Given the description of an element on the screen output the (x, y) to click on. 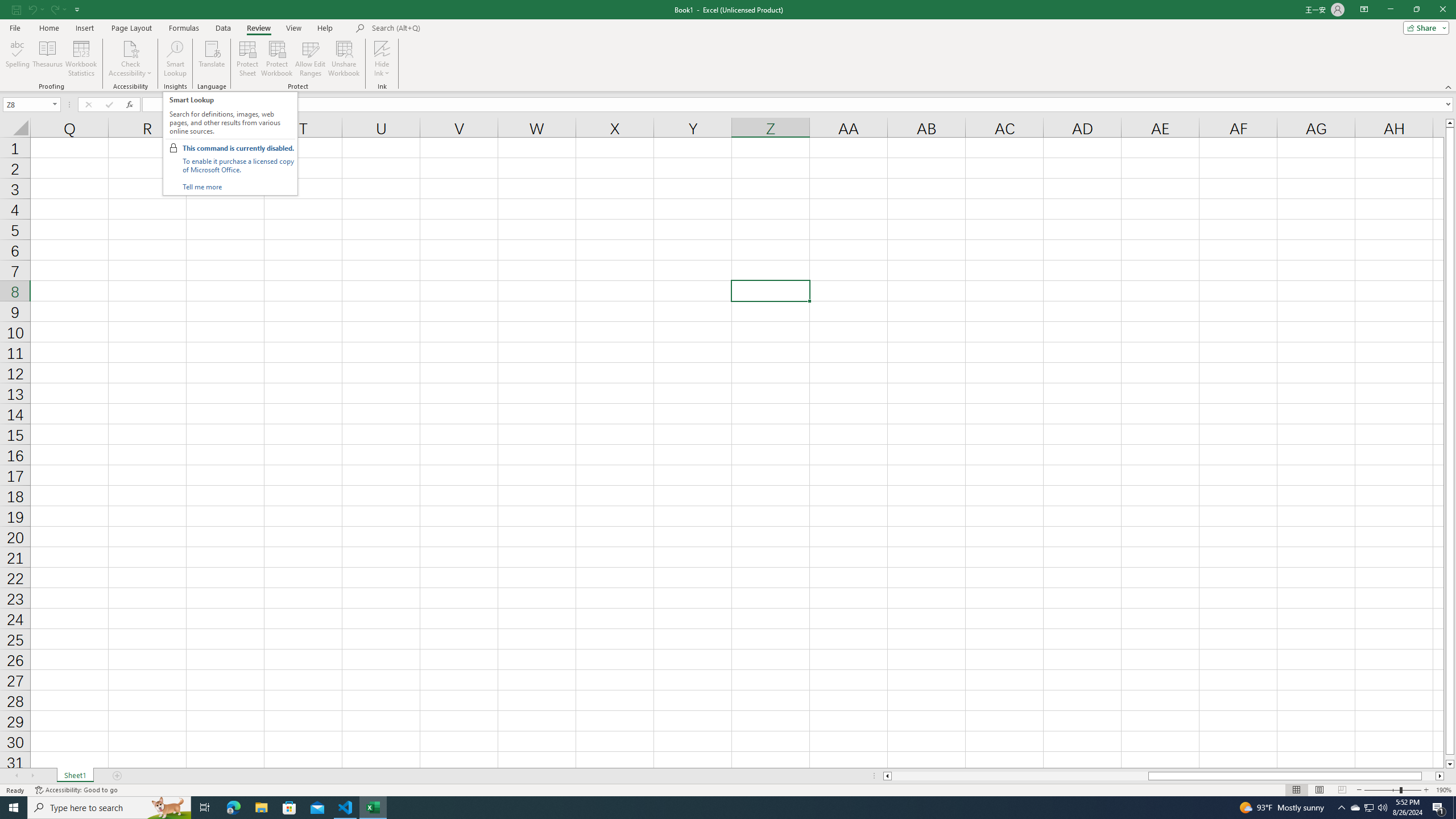
Hide Ink (381, 58)
Smart Lookup (175, 58)
Class: MsoCommandBar (728, 45)
Check Accessibility (129, 48)
